Given the description of an element on the screen output the (x, y) to click on. 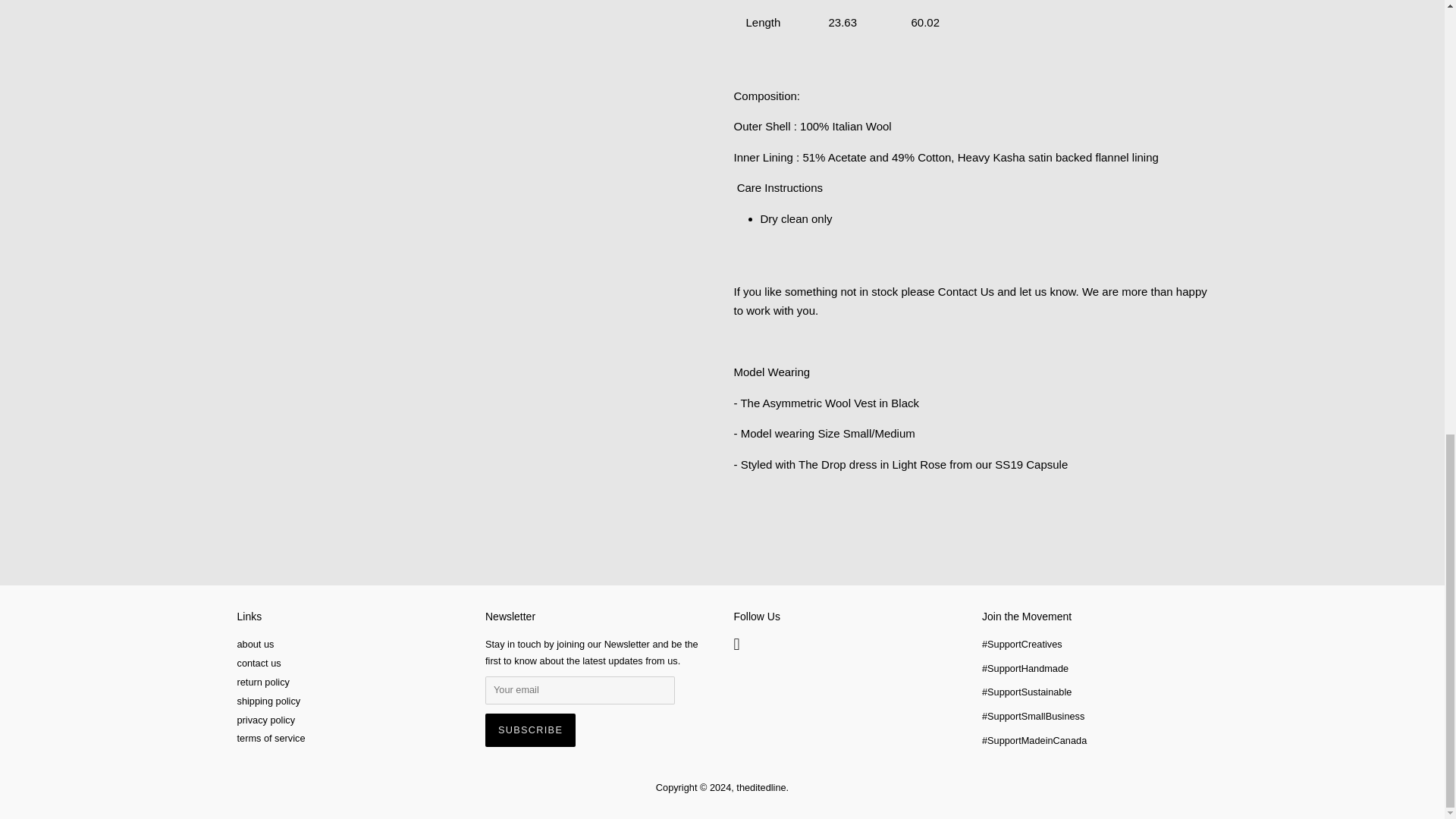
privacy policy (265, 719)
contact us (258, 663)
return policy (261, 681)
shipping policy (267, 700)
Subscribe (529, 729)
about us (254, 644)
Contact Us (965, 291)
terms of service (269, 737)
Subscribe (529, 729)
